Given the description of an element on the screen output the (x, y) to click on. 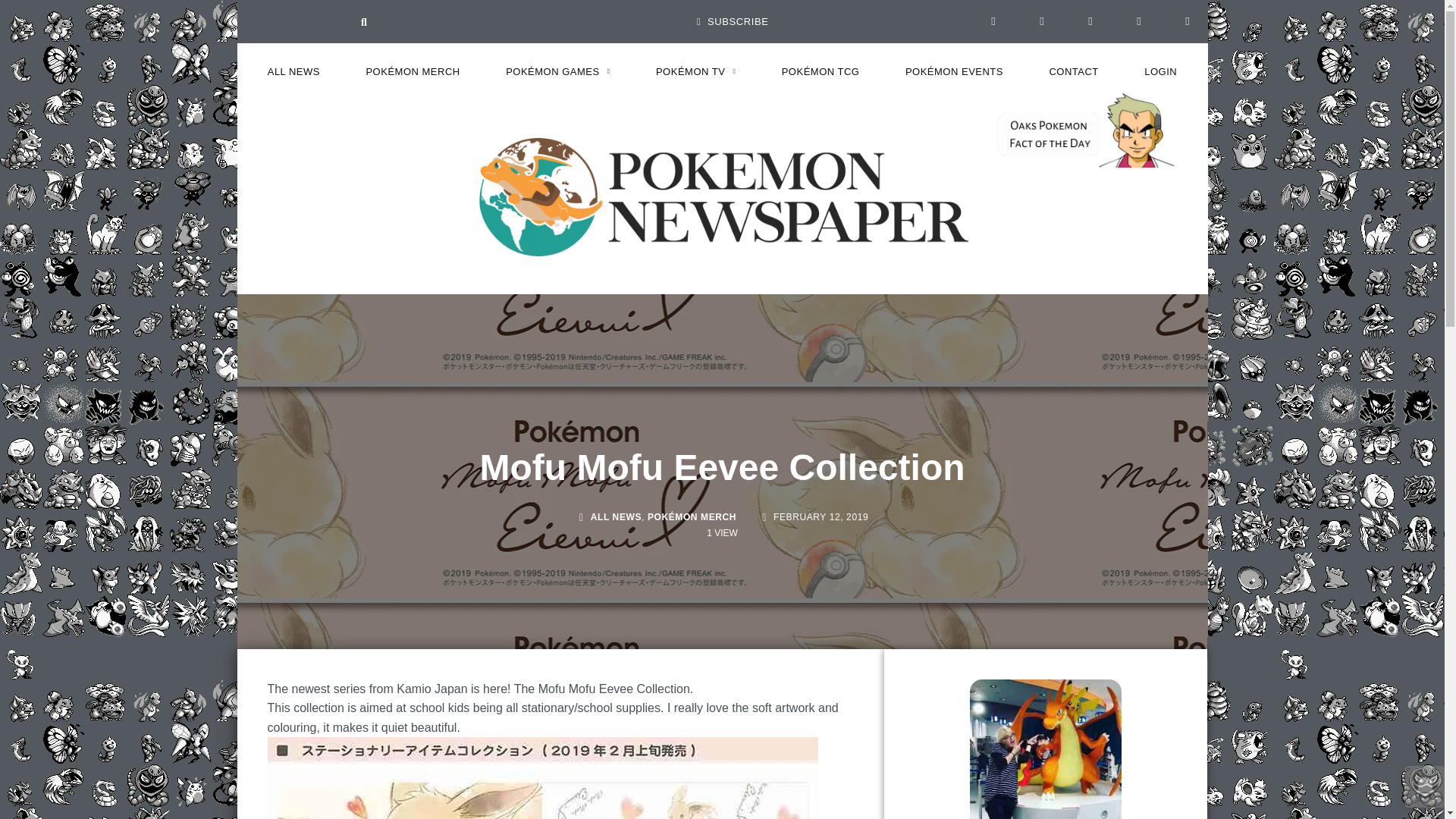
SUBSCRIBE (731, 21)
LOGIN (1160, 71)
CONTACT (1073, 71)
ALL NEWS (293, 71)
